Given the description of an element on the screen output the (x, y) to click on. 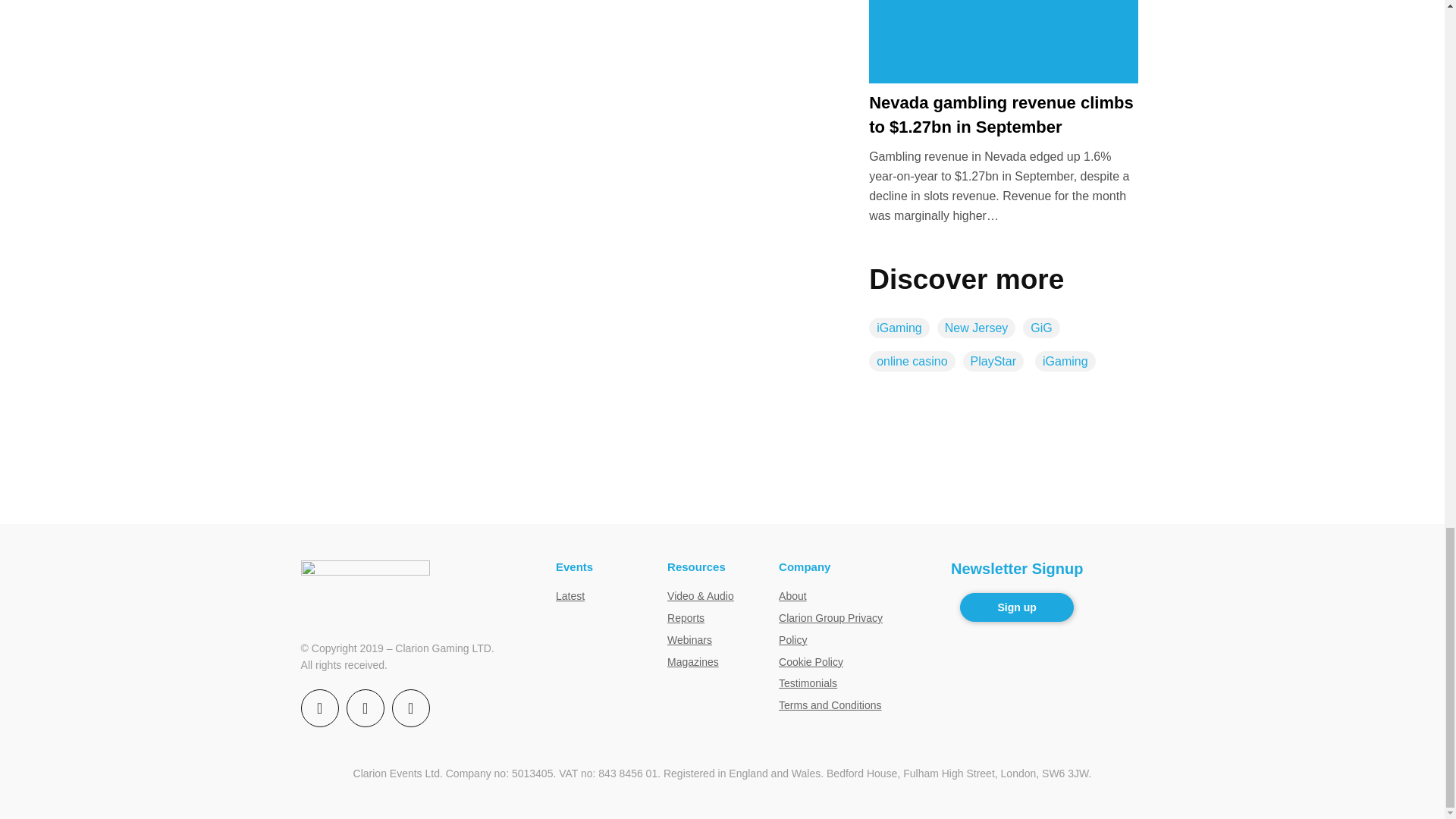
LinkedIn (410, 708)
Twitter (365, 708)
Facebook (320, 708)
